Given the description of an element on the screen output the (x, y) to click on. 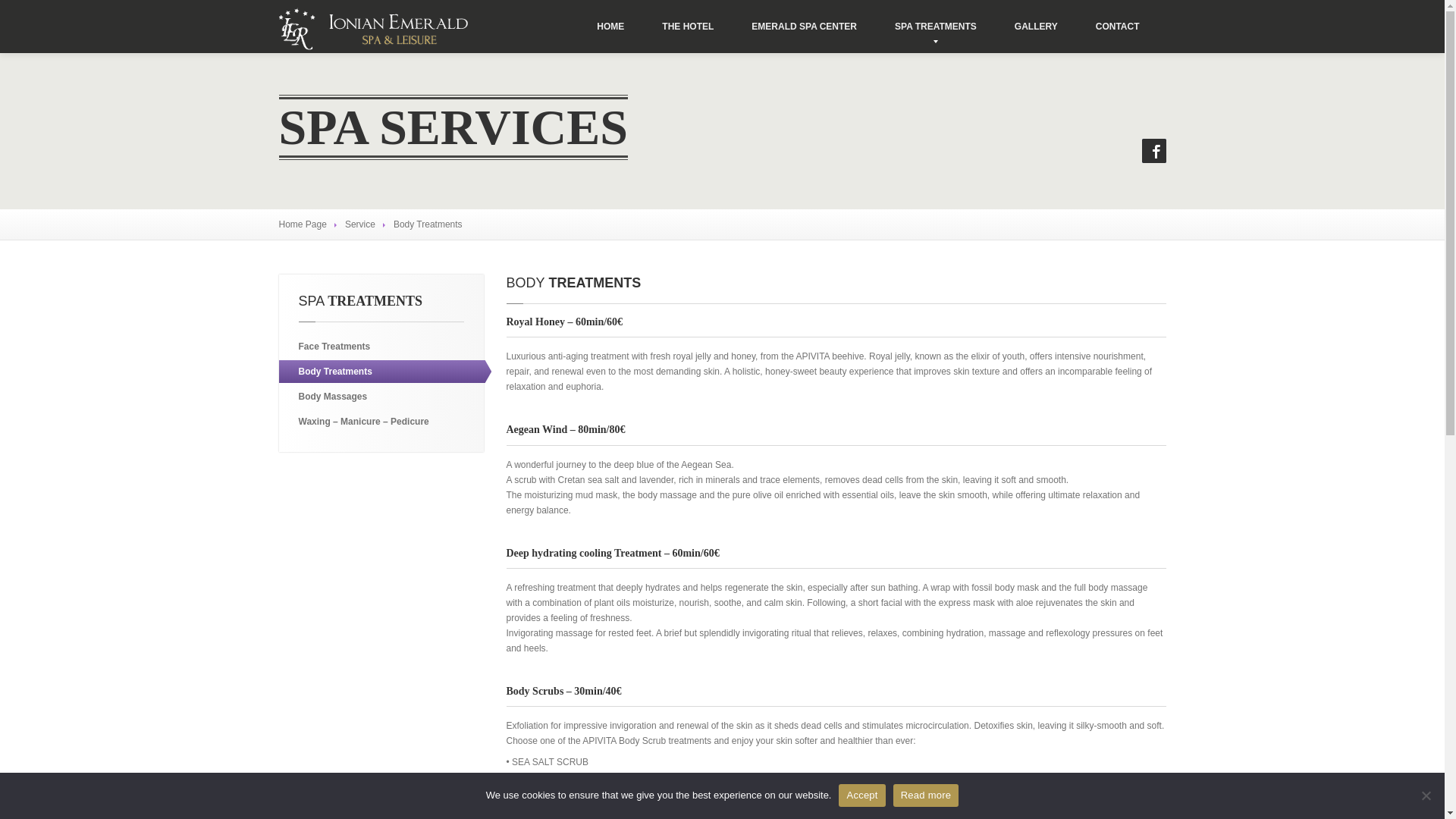
EMERALD SPA CENTER (804, 26)
SPA TREATMENTS (935, 26)
BODY TREATMENTS (574, 282)
No (1425, 795)
HOME (610, 26)
THE HOTEL (687, 26)
Read more (926, 794)
GALLERY (1036, 26)
Body Treatments (385, 371)
Home Page (302, 224)
Service (360, 224)
Face Treatments (385, 345)
Accept (861, 794)
CONTACT (1117, 26)
Body Massages (385, 395)
